Given the description of an element on the screen output the (x, y) to click on. 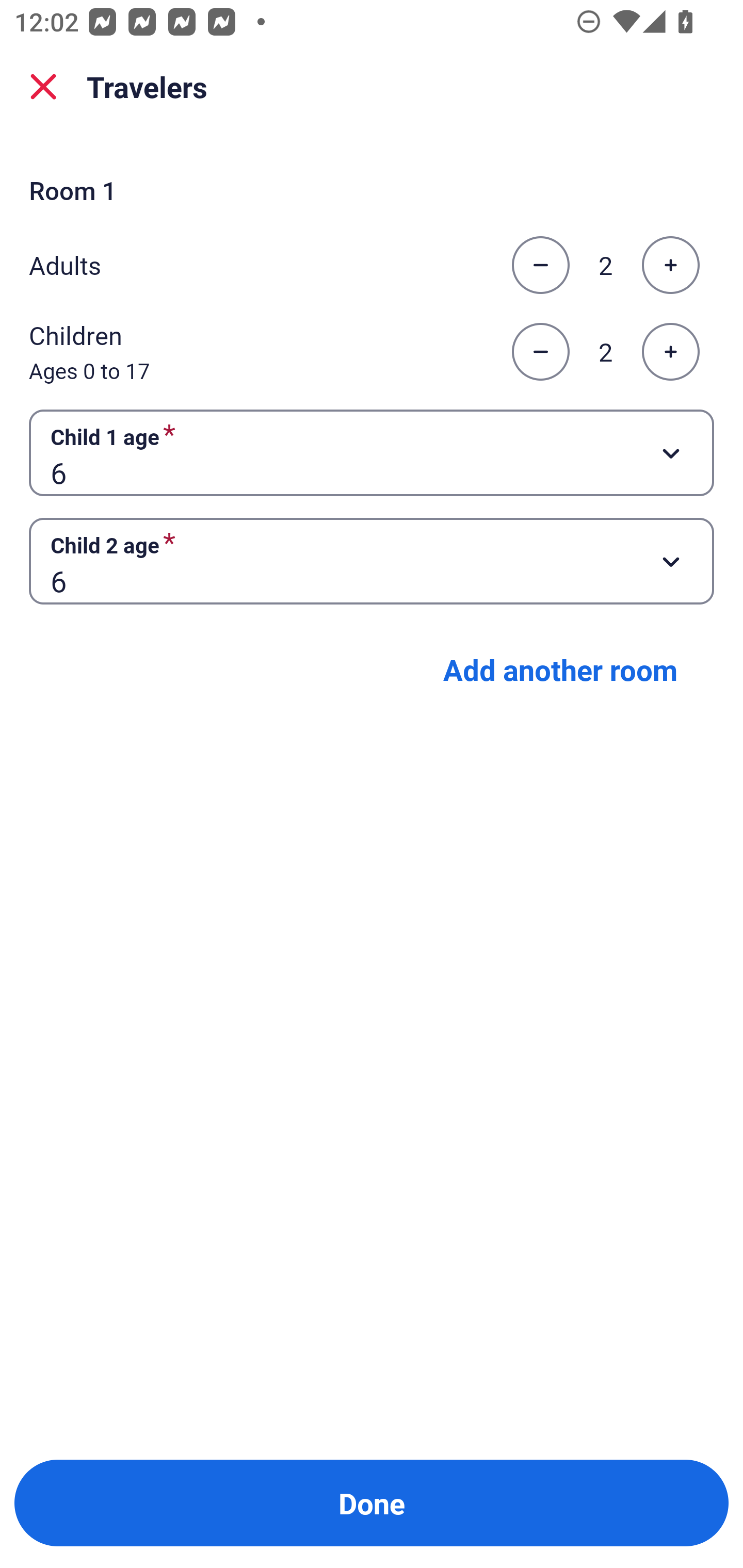
close (43, 86)
Decrease the number of adults (540, 264)
Increase the number of adults (670, 264)
Decrease the number of children (540, 351)
Increase the number of children (670, 351)
Child 1 age required Button 6 (371, 452)
Child 2 age required Button 6 (371, 561)
Add another room (560, 669)
Done (371, 1502)
